Given the description of an element on the screen output the (x, y) to click on. 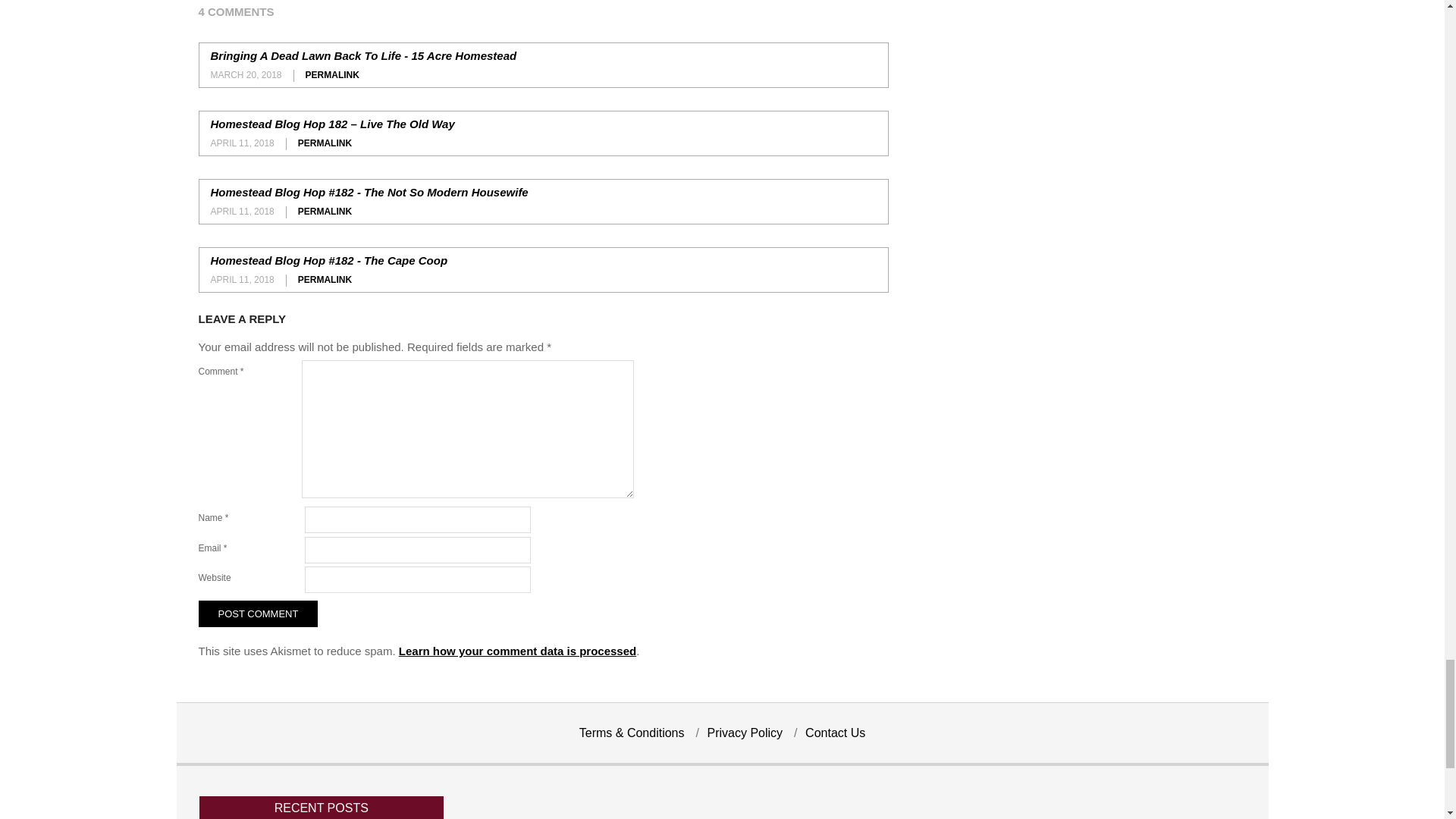
Bringing A Dead Lawn Back To Life - 15 Acre Homestead (363, 55)
Wednesday, April 11, 2018, 5:05 am (243, 143)
Tuesday, March 20, 2018, 2:57 pm (246, 74)
Wednesday, April 11, 2018, 7:11 am (243, 211)
Wednesday, April 11, 2018, 9:15 am (243, 279)
PERMALINK (332, 74)
Post Comment (258, 614)
